Given the description of an element on the screen output the (x, y) to click on. 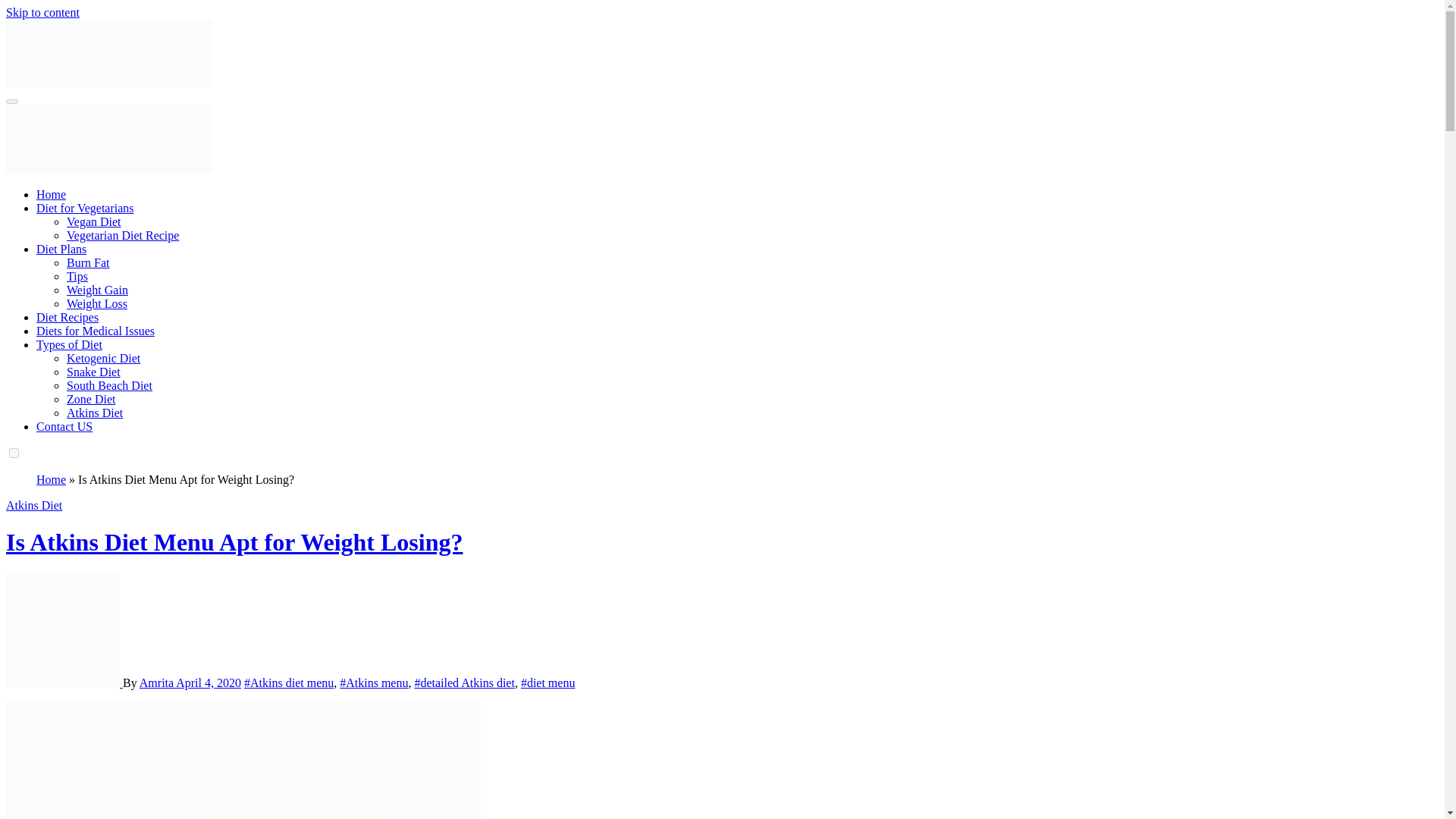
Diet for Vegetarians (84, 207)
Vegetarian Diet Recipe (122, 235)
Tips (76, 276)
Home (50, 479)
Types of Diet (68, 344)
Contact US (64, 426)
Diet Plans (60, 248)
Types of Diet (68, 344)
Weight Gain (97, 289)
Skip to content (42, 11)
